Given the description of an element on the screen output the (x, y) to click on. 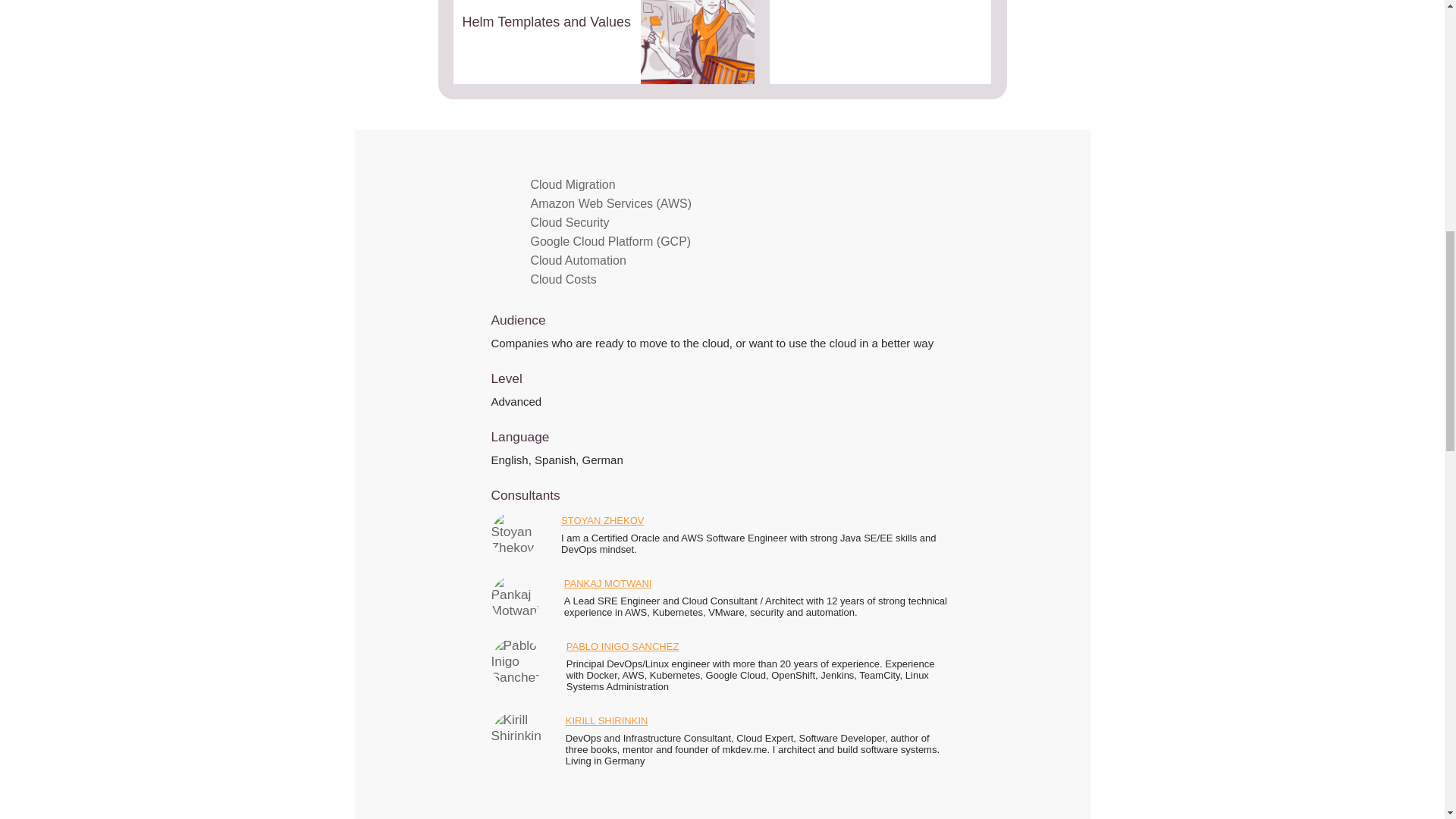
STOYAN ZHEKOV (601, 523)
Pankaj Motwani (516, 598)
PANKAJ MOTWANI (608, 586)
PABLO INIGO SANCHEZ (622, 649)
KIRILL SHIRINKIN (606, 723)
YouTube video player (883, 42)
Kirill Shirinkin (516, 736)
Pablo Inigo Sanchez (516, 663)
Stoyan Zhekov (514, 534)
Helm Templates and Values (603, 42)
